Given the description of an element on the screen output the (x, y) to click on. 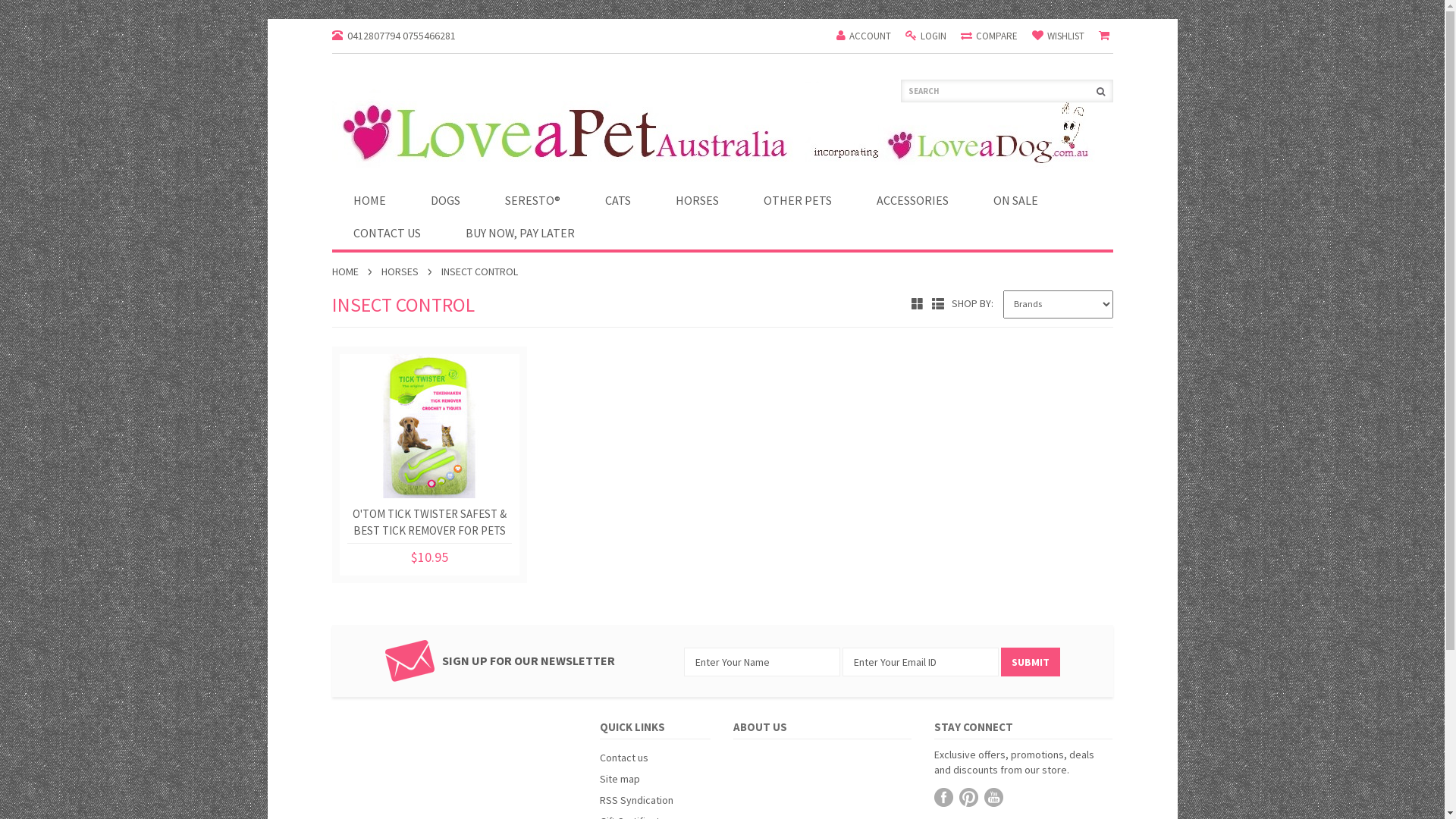
Contact us Element type: text (623, 757)
ON SALE Element type: text (1015, 200)
Facebook Element type: text (943, 796)
View Cart Element type: hover (1105, 35)
WISHLIST Element type: text (1057, 35)
ACCESSORIES Element type: text (912, 200)
YouTube Element type: text (993, 796)
HOME Element type: text (369, 200)
BUY NOW, PAY LATER Element type: text (519, 232)
CATS Element type: text (617, 200)
ACCOUNT Element type: text (862, 35)
  Element type: text (1101, 90)
Submit Element type: text (1030, 661)
DOGS Element type: text (445, 200)
HORSES Element type: text (405, 271)
HOME Element type: text (352, 271)
OTHER PETS Element type: text (796, 200)
COMPARE Element type: text (988, 35)
Pinterest Element type: text (968, 796)
HORSES Element type: text (696, 200)
Site map Element type: text (619, 778)
LOGIN Element type: text (925, 35)
CONTACT US Element type: text (386, 232)
RSS Syndication Element type: text (636, 799)
